Given the description of an element on the screen output the (x, y) to click on. 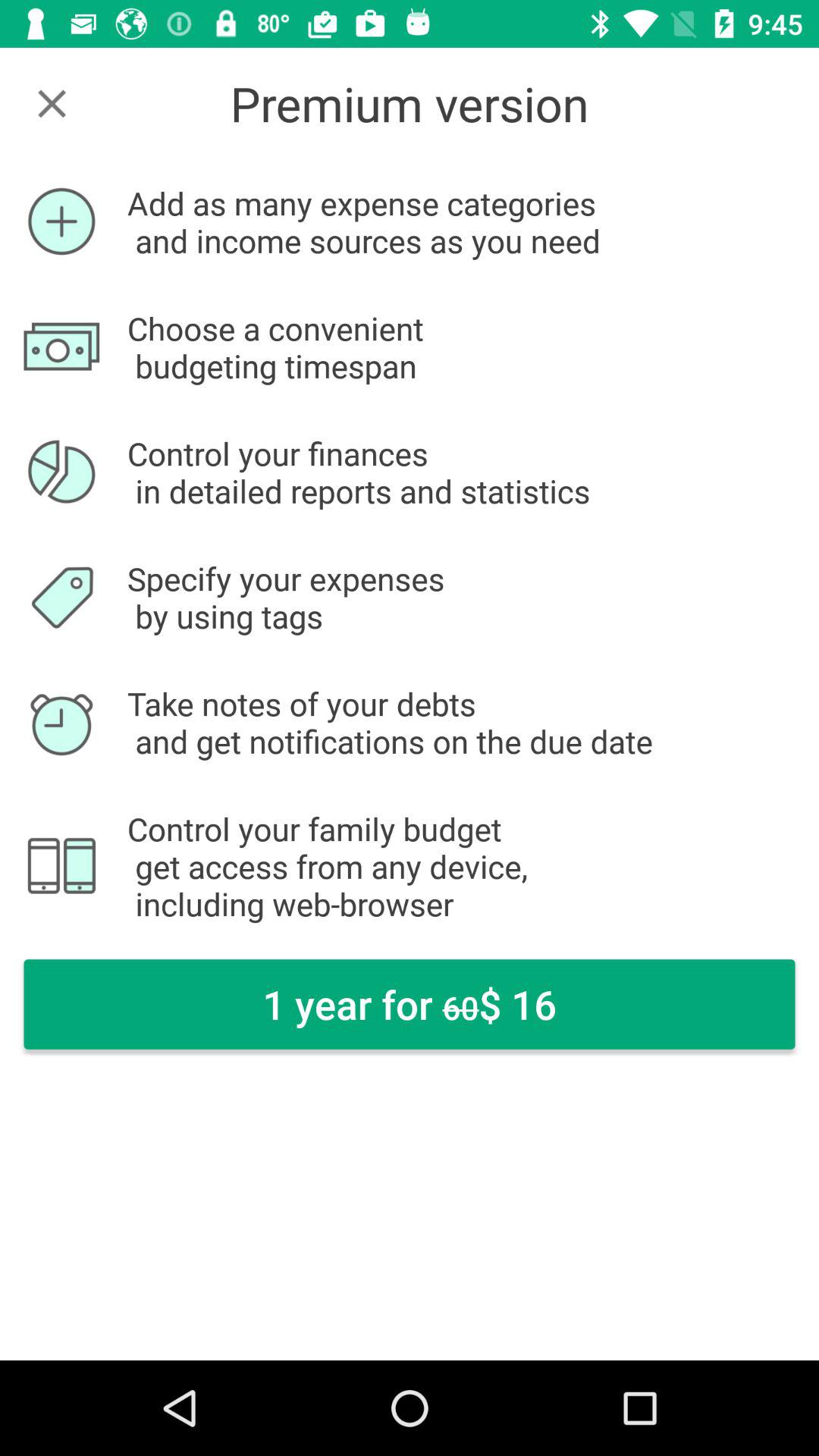
close it (51, 103)
